Given the description of an element on the screen output the (x, y) to click on. 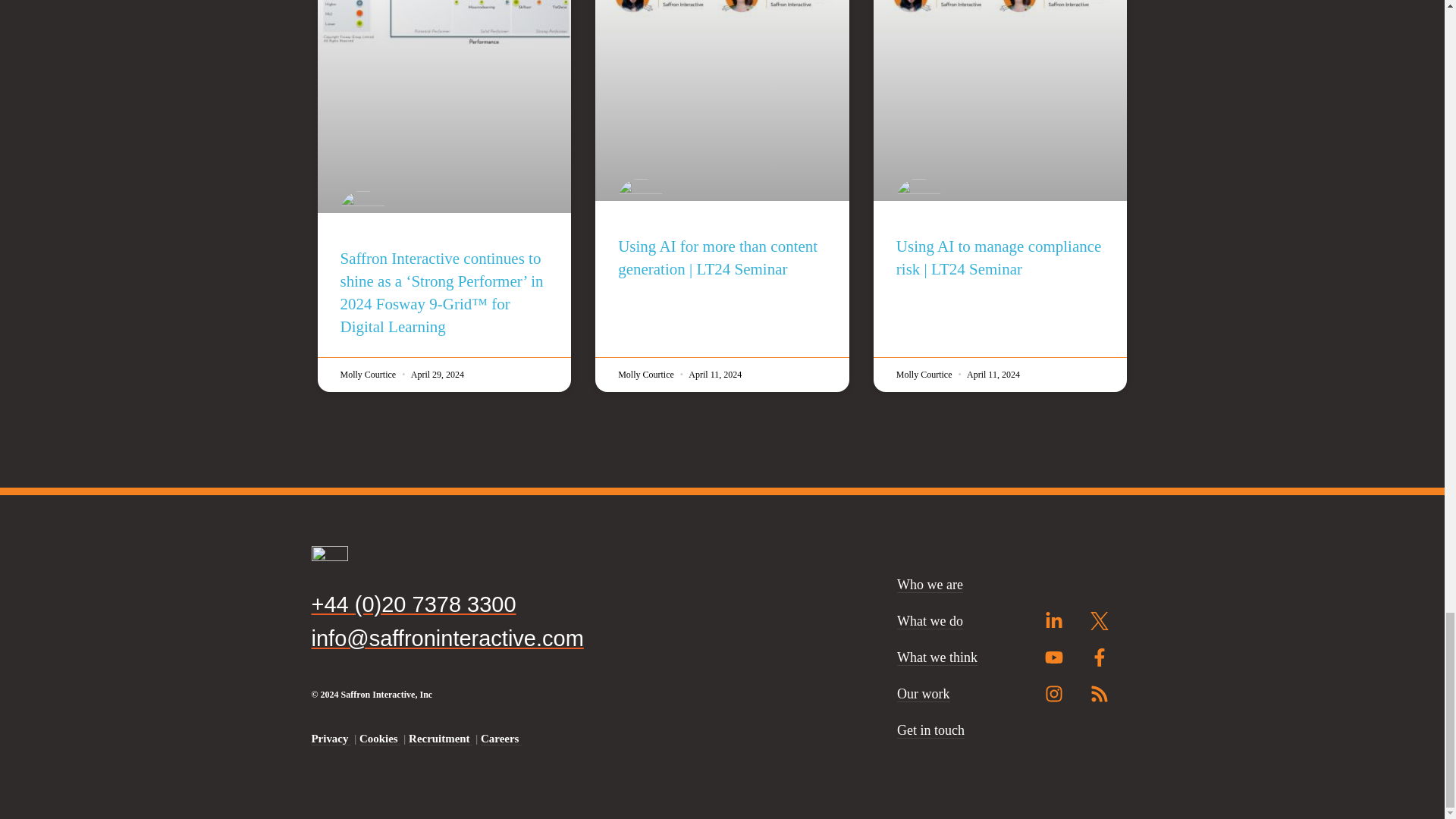
Cookies  (379, 738)
Privacy (330, 738)
Careers  (500, 738)
Recruitment  (440, 738)
